Given the description of an element on the screen output the (x, y) to click on. 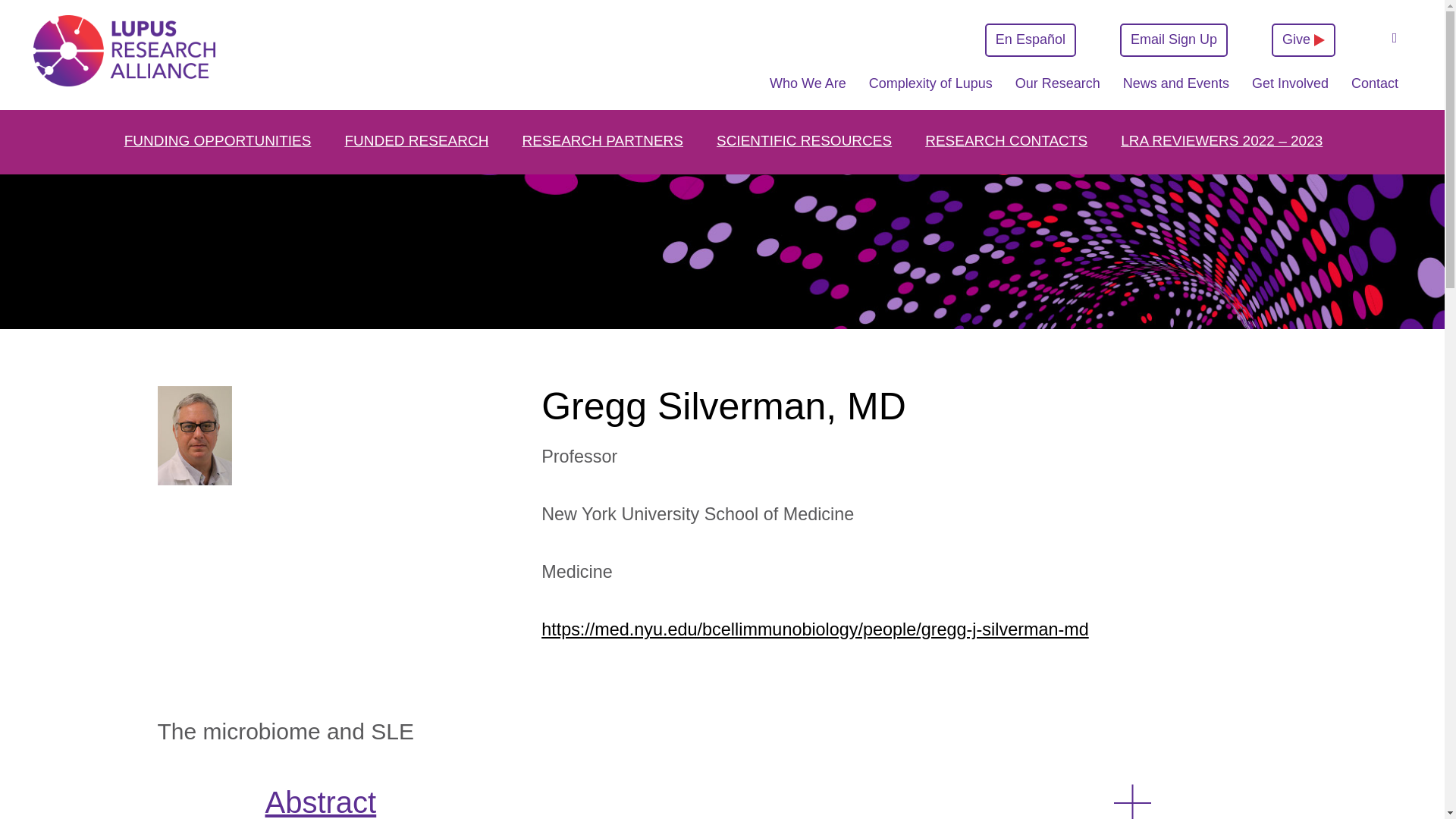
Who We Are (807, 90)
Complexity of Lupus (930, 90)
Search (1393, 38)
Email Sign Up (1173, 39)
Give (1303, 39)
Our Research (1057, 90)
